Given the description of an element on the screen output the (x, y) to click on. 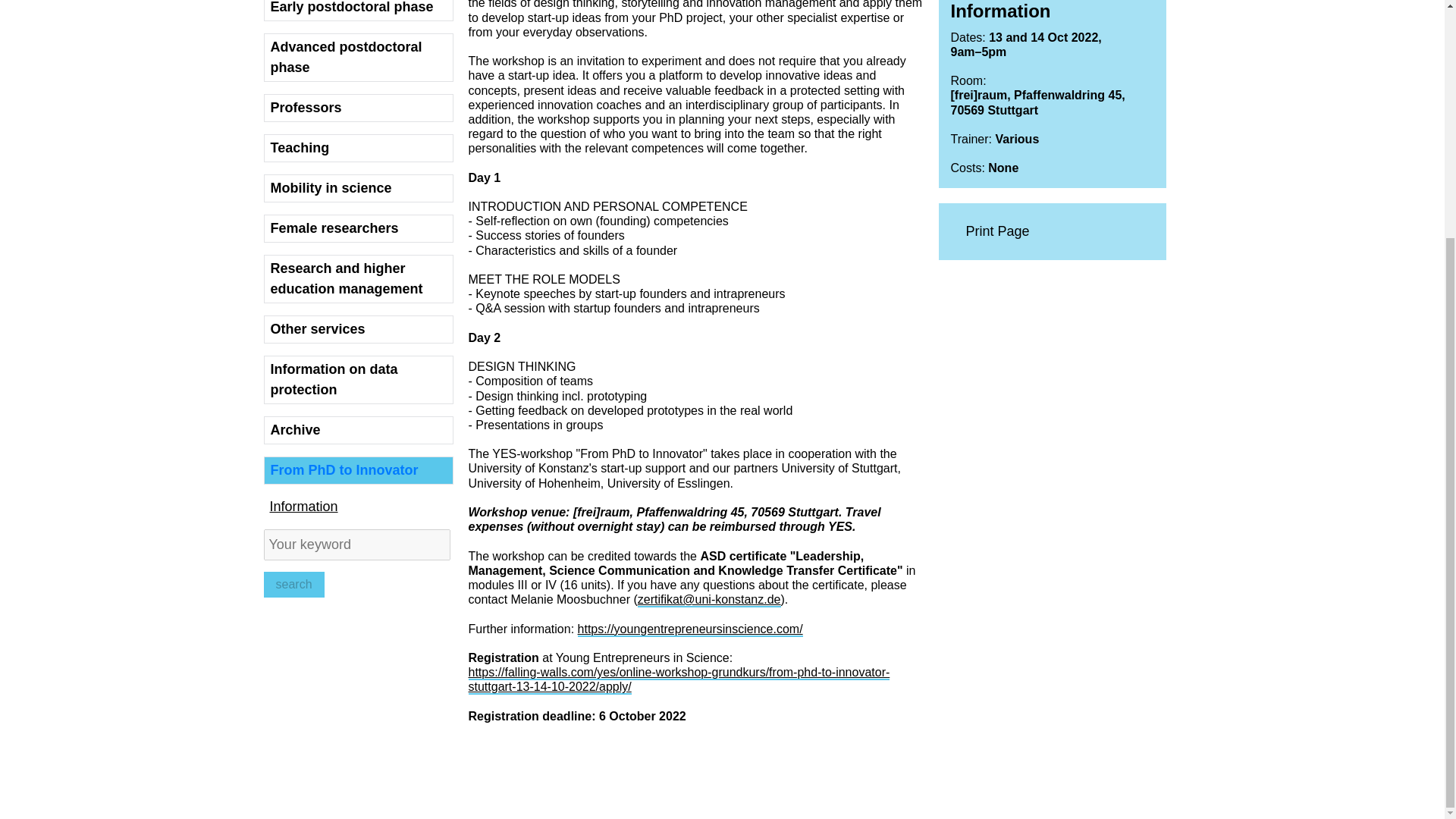
Advanced postdoctoral phase (357, 57)
Mobility in science (357, 188)
Early postdoctoral phase (357, 10)
Print Page (1052, 231)
Archive (357, 430)
Information on data protection (357, 379)
Professors (357, 108)
Teaching (357, 148)
Other services (357, 329)
From PhD to Innovator (357, 470)
